Given the description of an element on the screen output the (x, y) to click on. 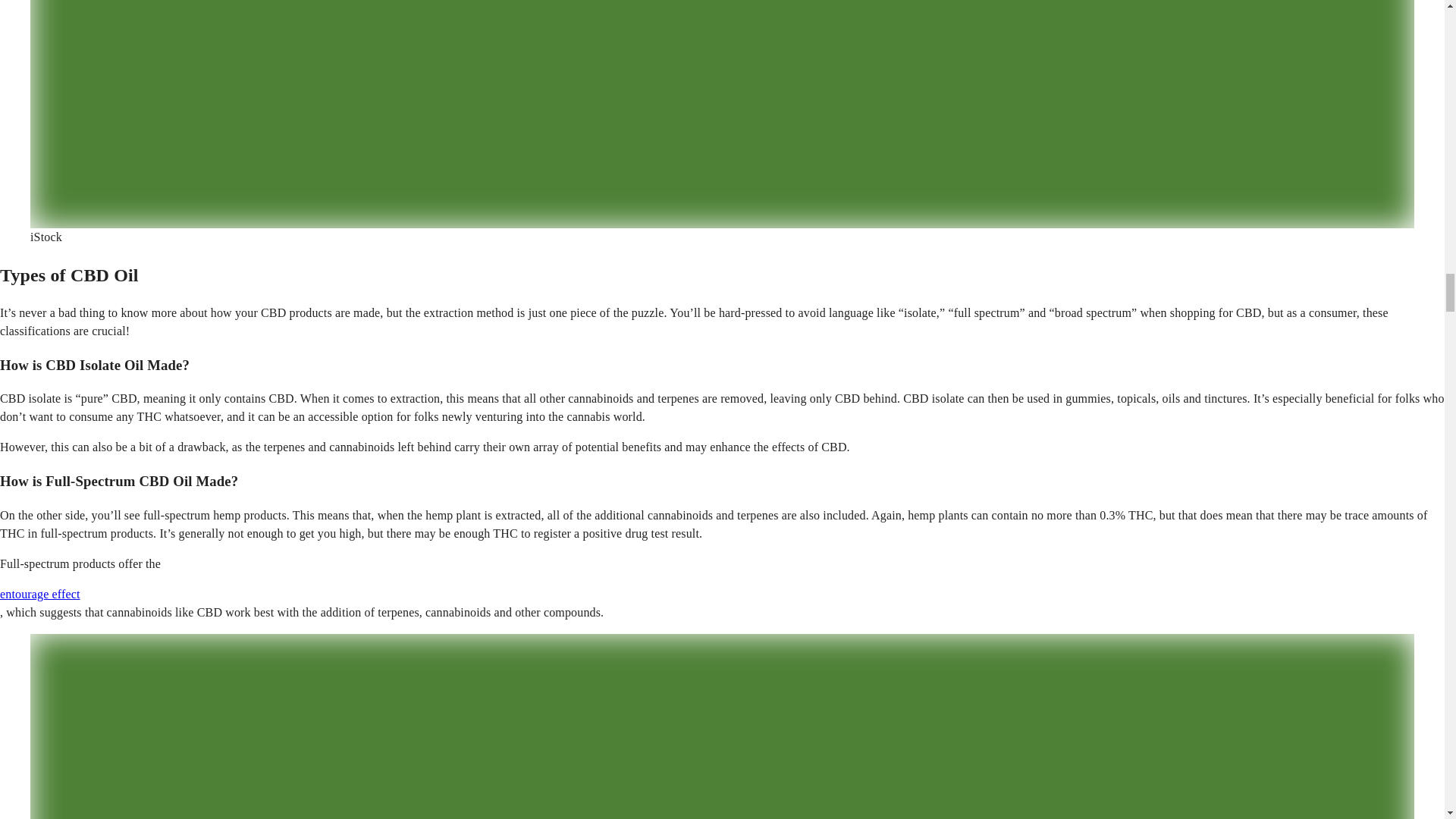
entourage effect (40, 594)
